Given the description of an element on the screen output the (x, y) to click on. 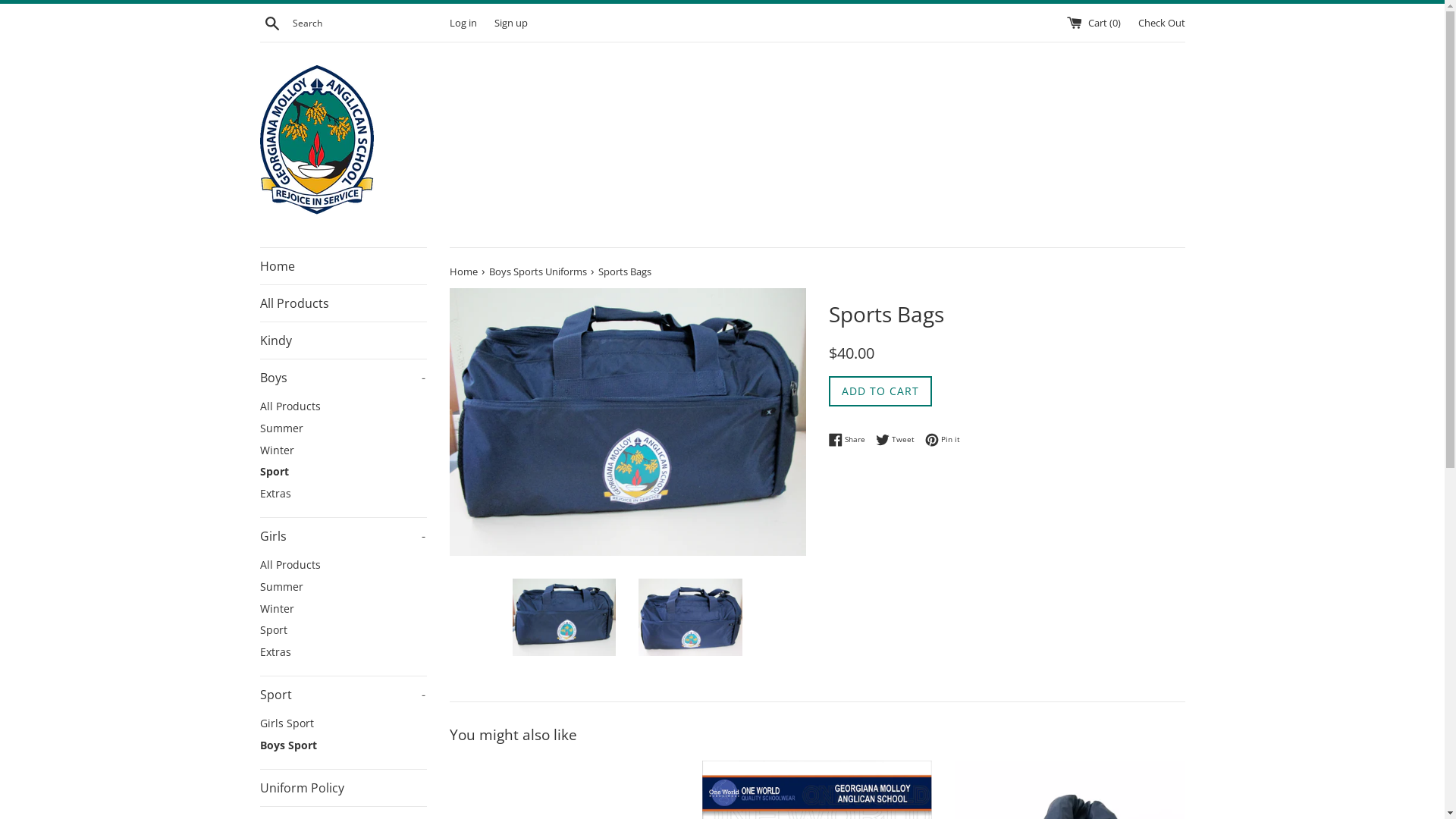
Sport
- Element type: text (342, 694)
Home Element type: text (463, 271)
Boys
- Element type: text (342, 377)
Log in Element type: text (462, 22)
All Products Element type: text (342, 303)
Extras Element type: text (342, 652)
Pin it
Pin on Pinterest Element type: text (942, 439)
Boys Sports Uniforms Element type: text (538, 271)
Kindy Element type: text (342, 340)
Winter Element type: text (342, 609)
Girls
- Element type: text (342, 535)
Tweet
Tweet on Twitter Element type: text (898, 439)
All Products Element type: text (342, 406)
Summer Element type: text (342, 587)
Extras Element type: text (342, 494)
Girls Sport Element type: text (342, 723)
Uniform Policy Element type: text (342, 787)
Sport Element type: text (342, 472)
Check Out Element type: text (1160, 22)
ADD TO CART Element type: text (879, 391)
Summer Element type: text (342, 428)
Boys Sport Element type: text (342, 745)
Home Element type: text (342, 265)
Winter Element type: text (342, 450)
Sign up Element type: text (510, 22)
Share
Share on Facebook Element type: text (850, 439)
Cart (0) Element type: text (1094, 22)
Sport Element type: text (342, 630)
Search Element type: text (271, 22)
All Products Element type: text (342, 565)
